Given the description of an element on the screen output the (x, y) to click on. 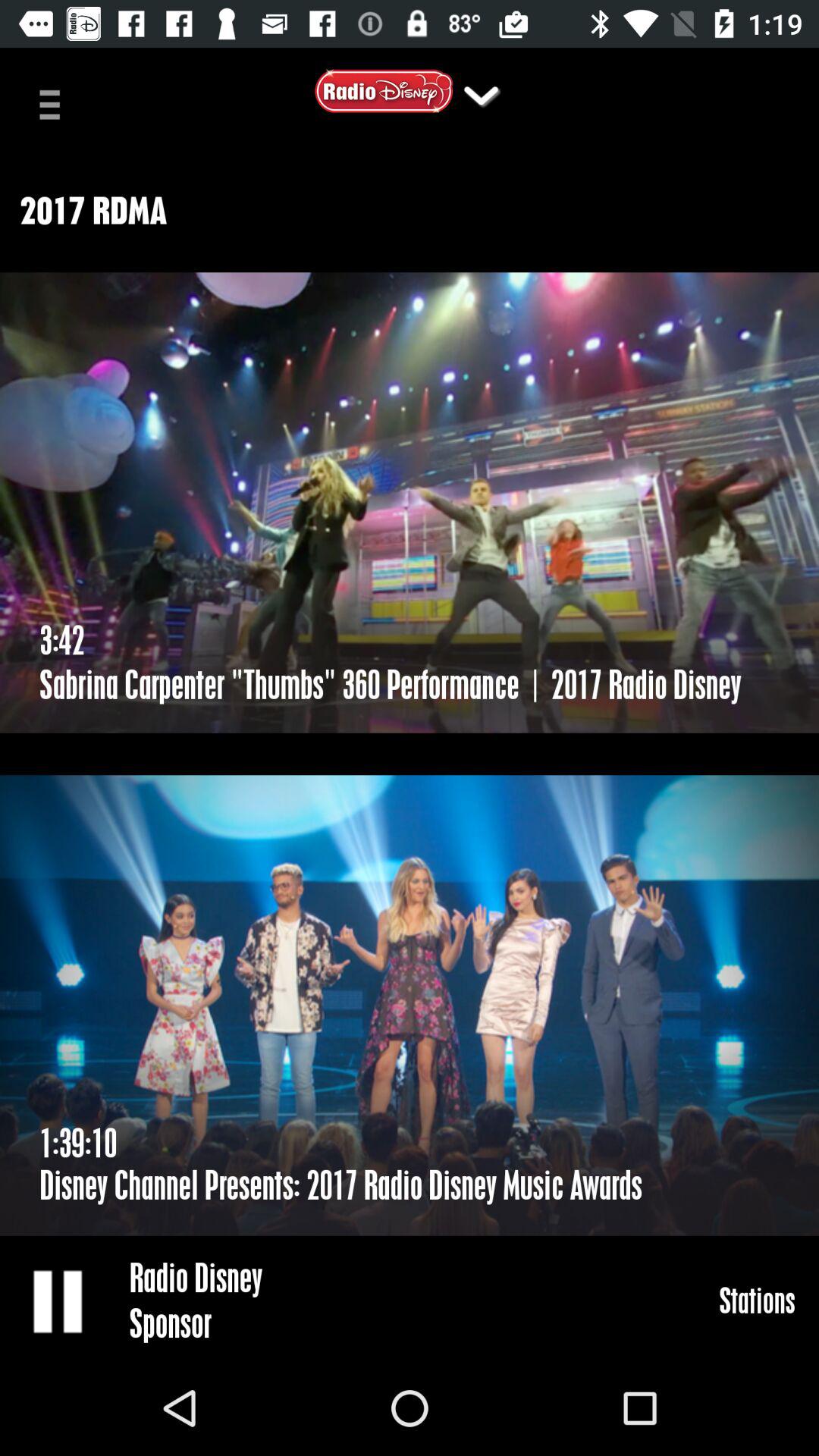
play button (59, 1300)
